Given the description of an element on the screen output the (x, y) to click on. 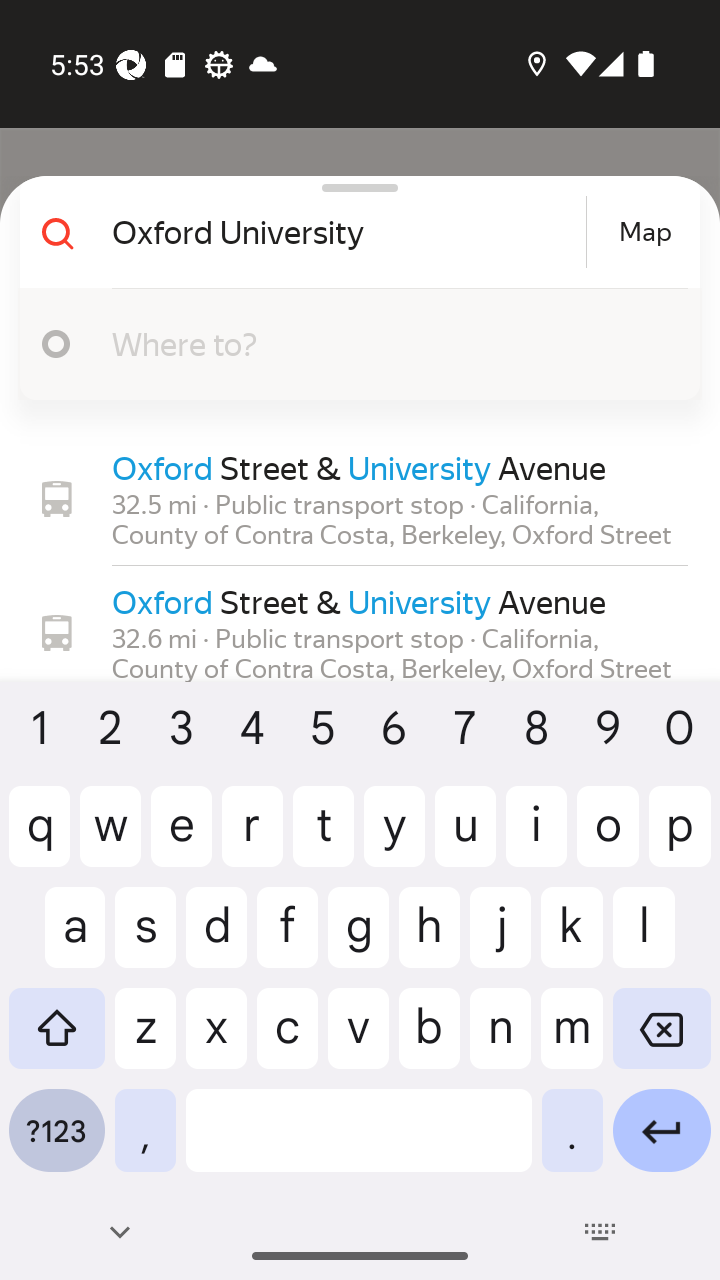
Oxford University Map Map (352, 232)
Map (645, 232)
Oxford University (346, 232)
Where to? (352, 343)
Where to? (373, 343)
